Given the description of an element on the screen output the (x, y) to click on. 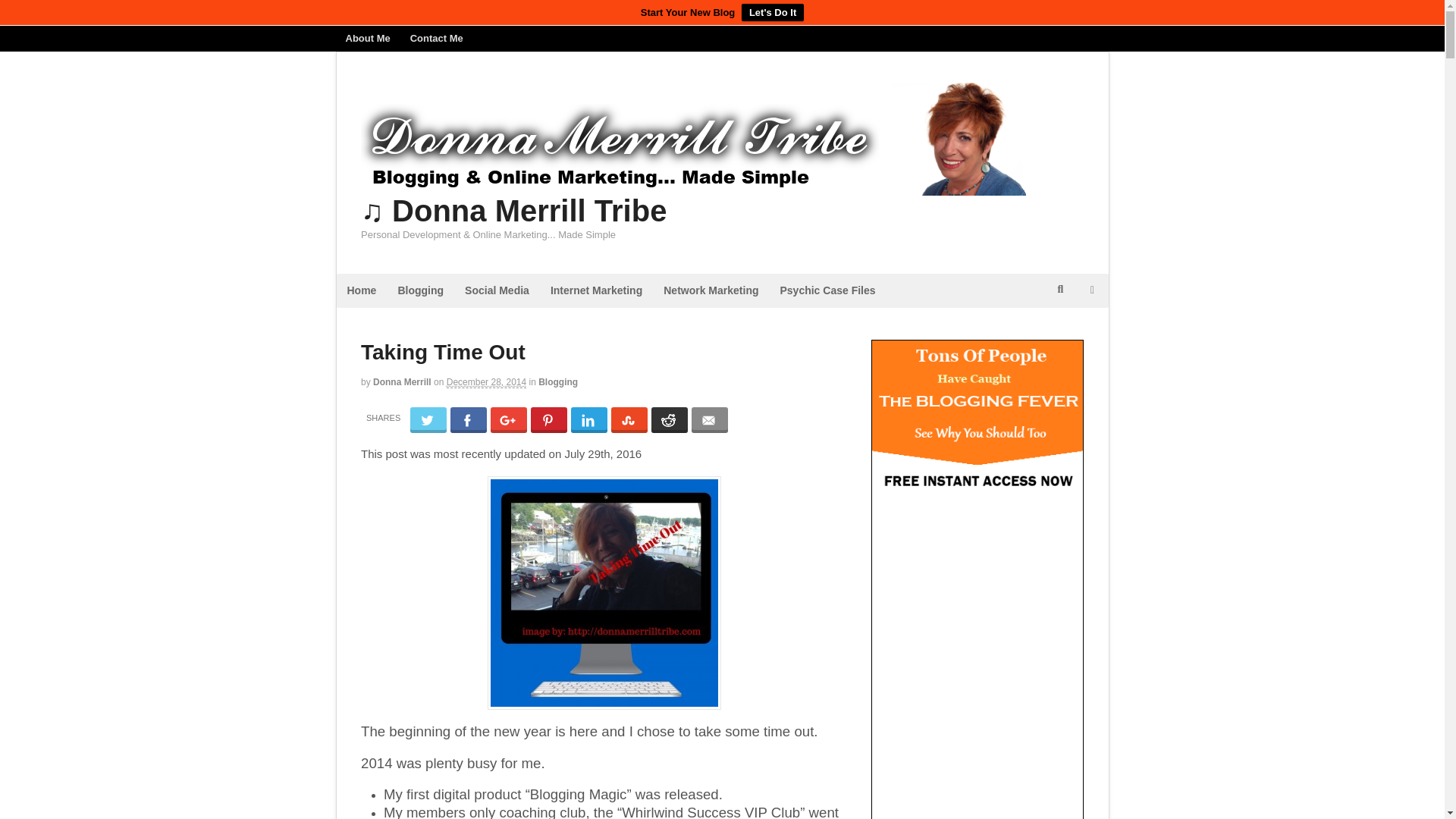
View all items in Blogging (558, 381)
Blogging (558, 381)
Posts by Donna Merrill (401, 381)
2014-12-28T21:44:12-0500 (485, 382)
Blogging (420, 290)
Network Marketing (710, 290)
About Me (366, 38)
Home (361, 290)
Social Media (497, 290)
Donna Merrill (401, 381)
